Given the description of an element on the screen output the (x, y) to click on. 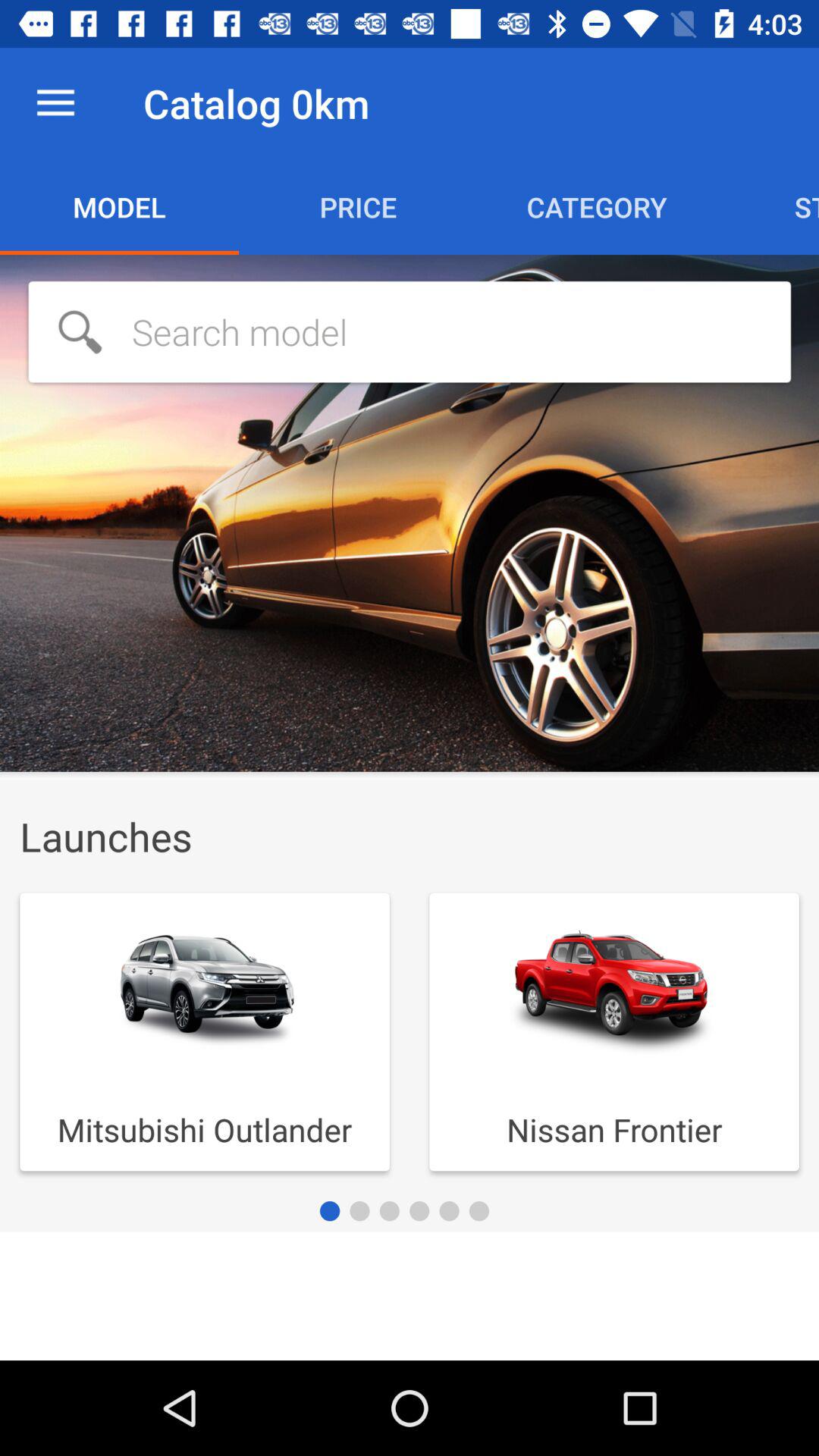
click the item below model (409, 331)
